Given the description of an element on the screen output the (x, y) to click on. 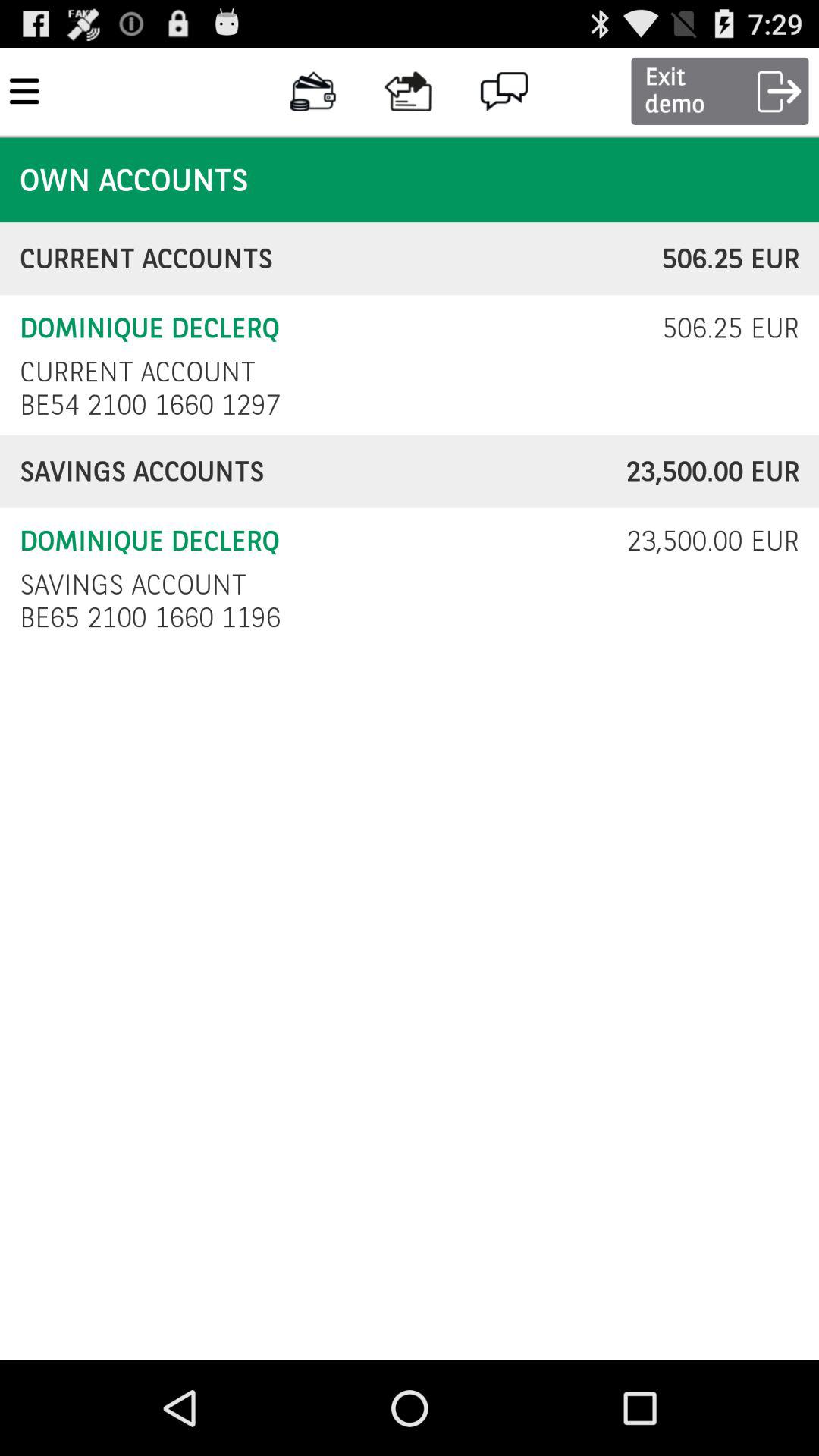
flip to the be54 2100 1660 icon (153, 404)
